Given the description of an element on the screen output the (x, y) to click on. 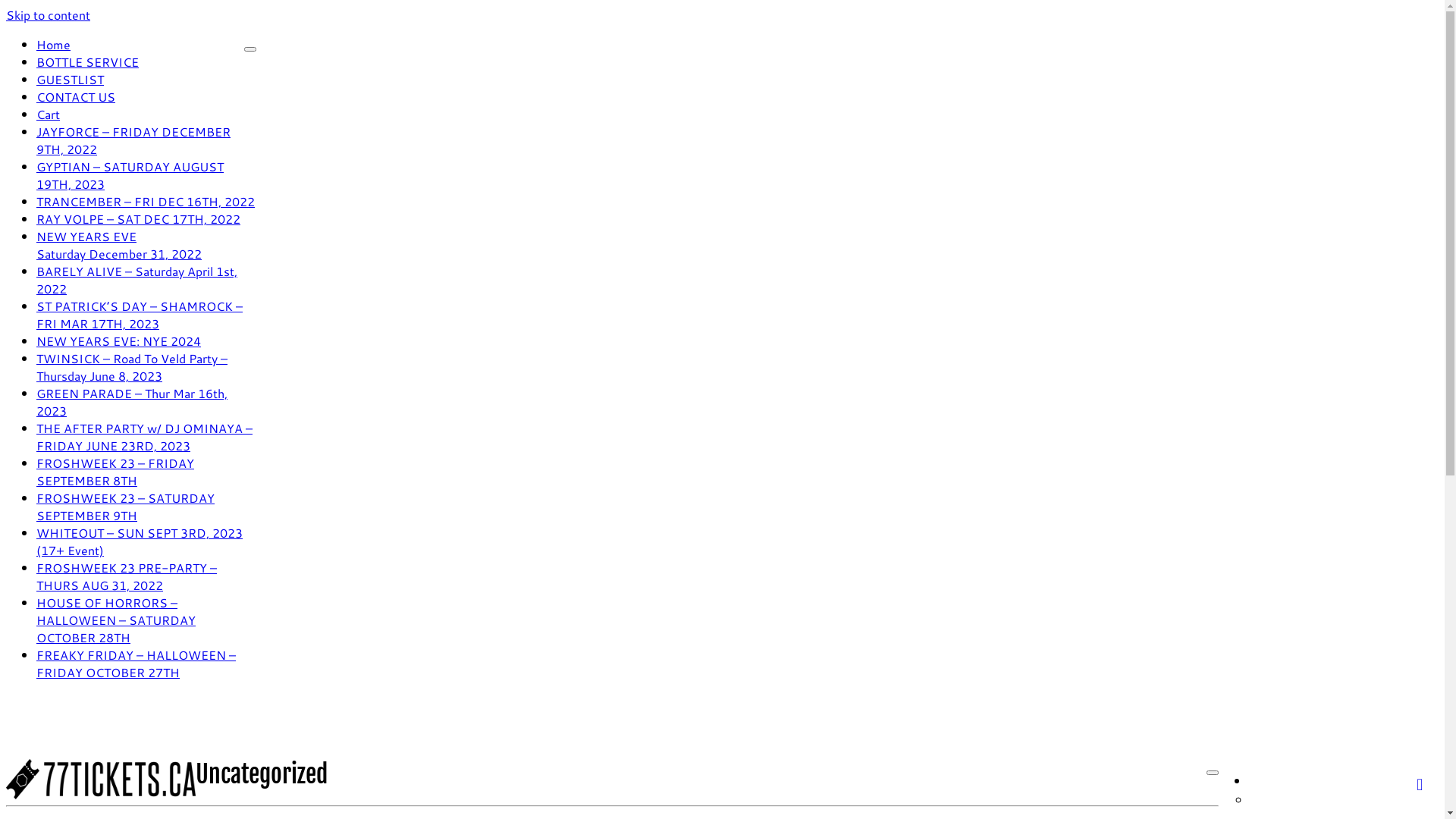
BOTTLE SERVICE Element type: text (87, 61)
GUESTLIST Element type: text (69, 78)
Home Element type: text (53, 44)
Close Element type: hover (250, 49)
Open the menu Element type: hover (1212, 772)
CONTACT US Element type: text (75, 96)
Skip to content Element type: text (48, 14)
View your shopping cart Element type: hover (1427, 777)
NEW YEARS EVE
Saturday December 31, 2022 Element type: text (118, 244)
NEW YEARS EVE: NYE 2024 Element type: text (118, 340)
Cart Element type: text (47, 113)
